Given the description of an element on the screen output the (x, y) to click on. 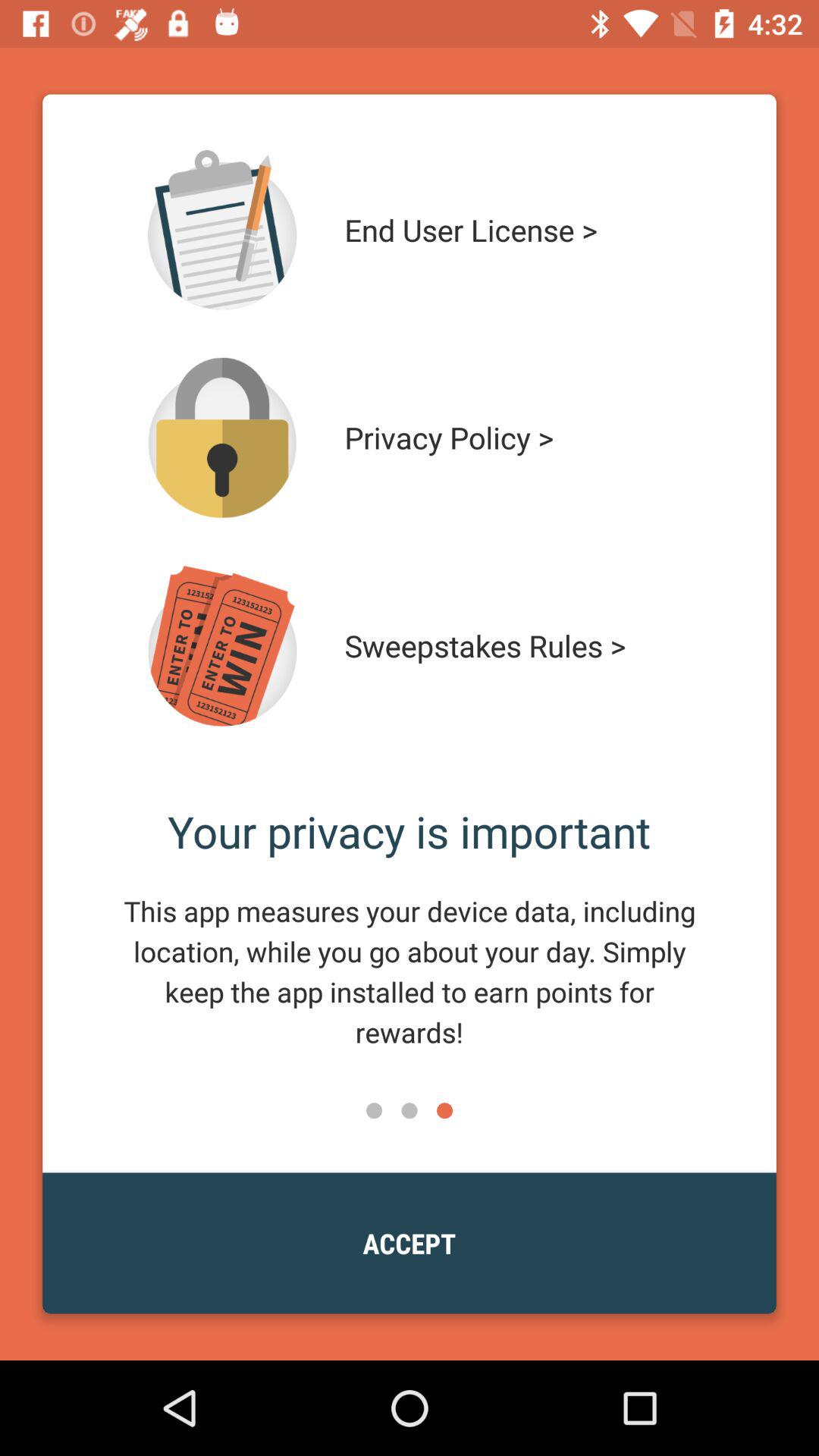
end user license (222, 229)
